Given the description of an element on the screen output the (x, y) to click on. 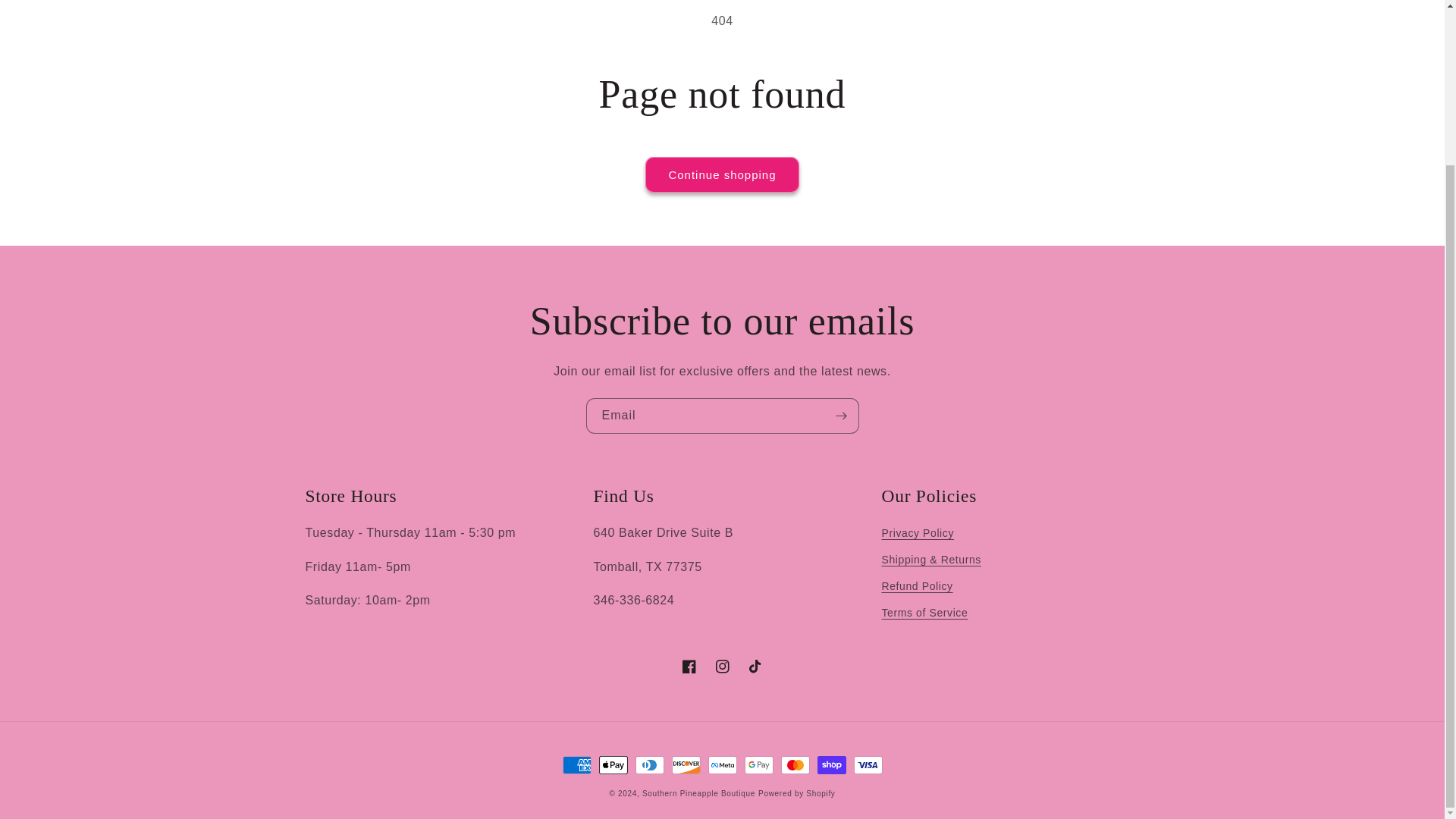
Refund Policy (916, 586)
Powered by Shopify (796, 793)
Instagram (721, 666)
Privacy Policy (916, 535)
Southern Pineapple Boutique (698, 793)
Terms of Service (924, 612)
Continue shopping (721, 174)
Facebook (687, 666)
TikTok (754, 666)
